Given the description of an element on the screen output the (x, y) to click on. 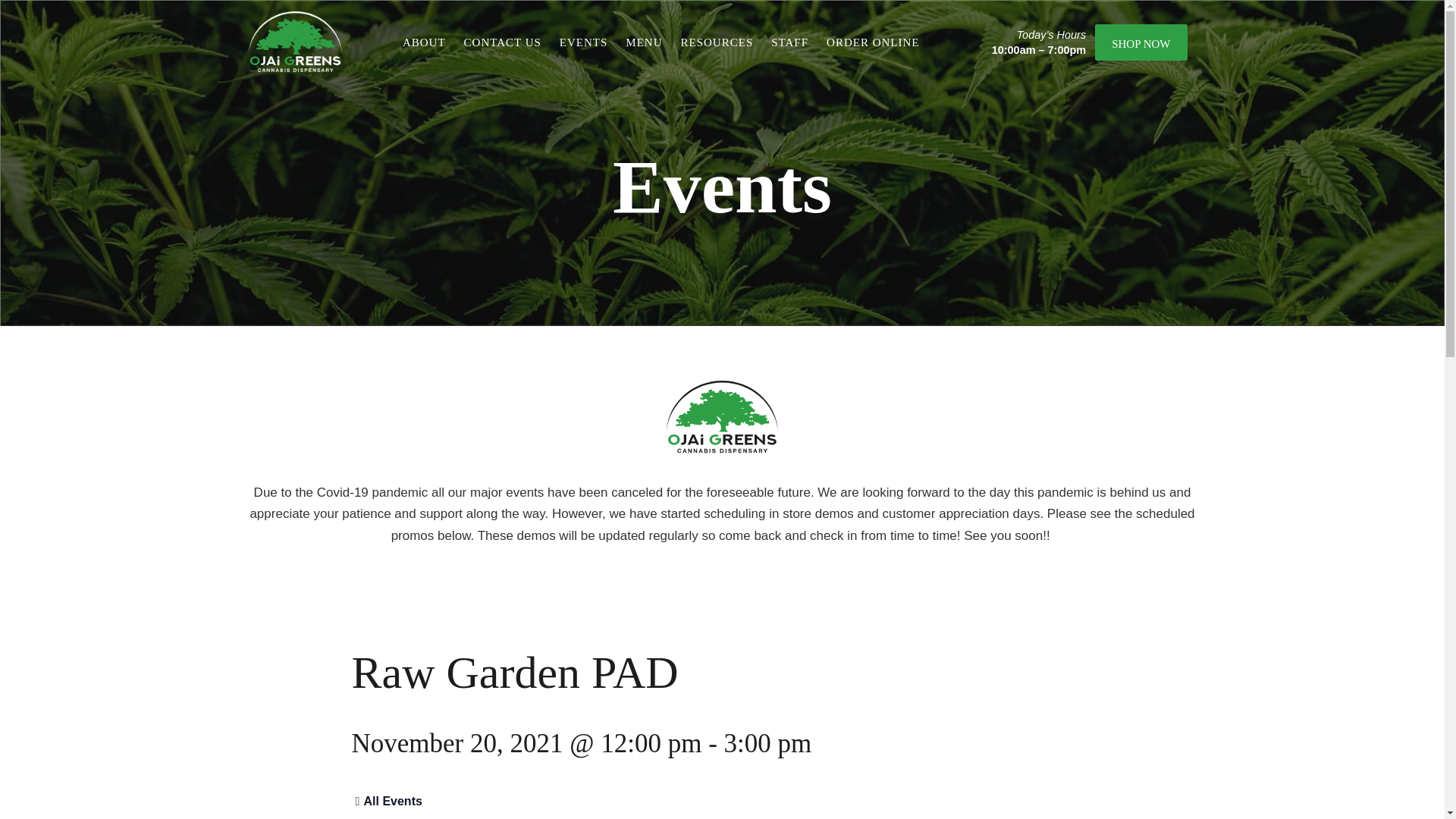
SHOP NOW (1140, 42)
SHOP NOW (1140, 42)
Contact Us (502, 42)
Order Online (872, 42)
Resources (717, 42)
RESOURCES (717, 42)
All Events (387, 800)
CONTACT US (502, 42)
Ojai Greens (295, 41)
ORDER ONLINE (872, 42)
